Given the description of an element on the screen output the (x, y) to click on. 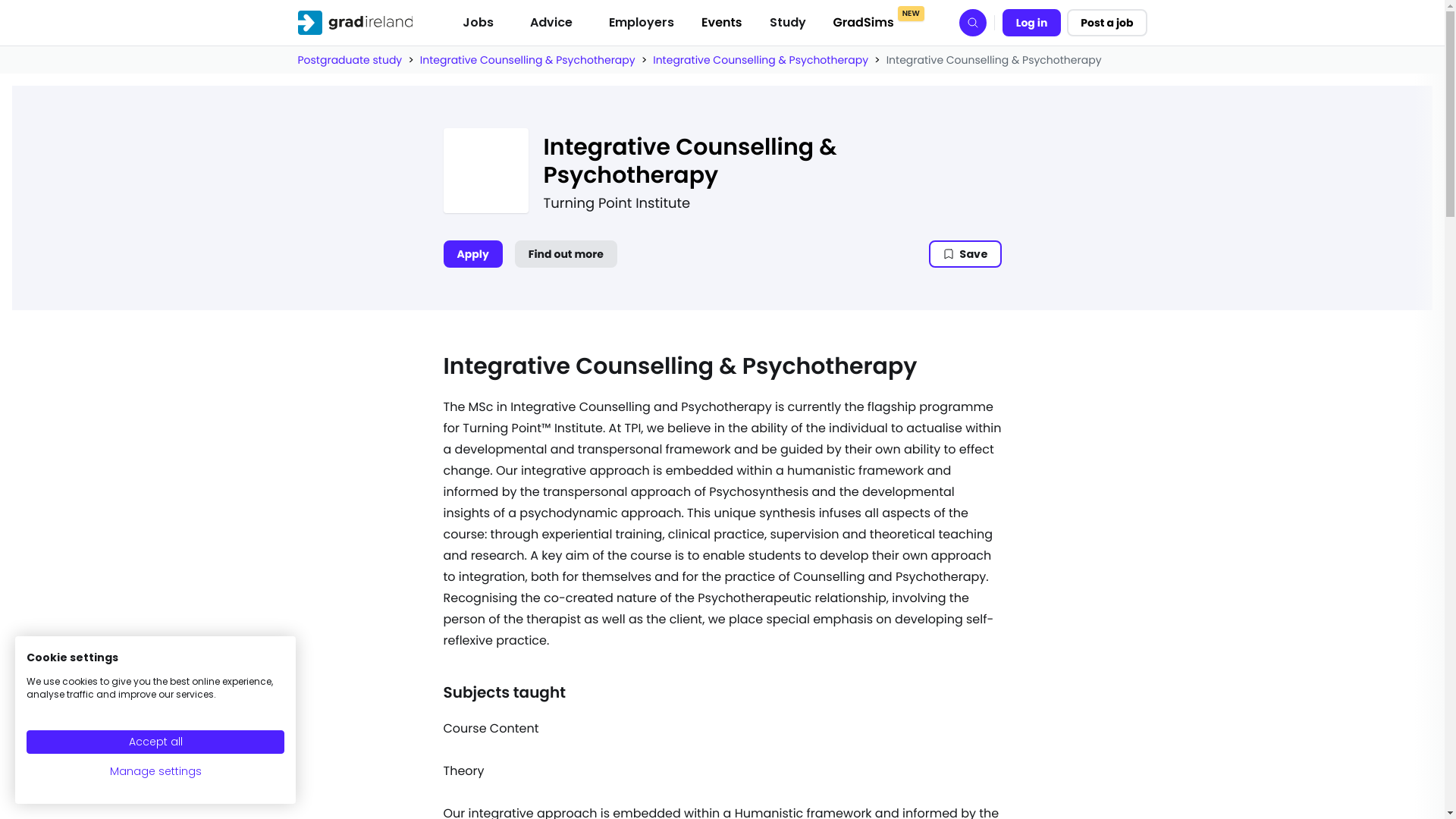
Jobs (477, 22)
Advice (550, 22)
